Given the description of an element on the screen output the (x, y) to click on. 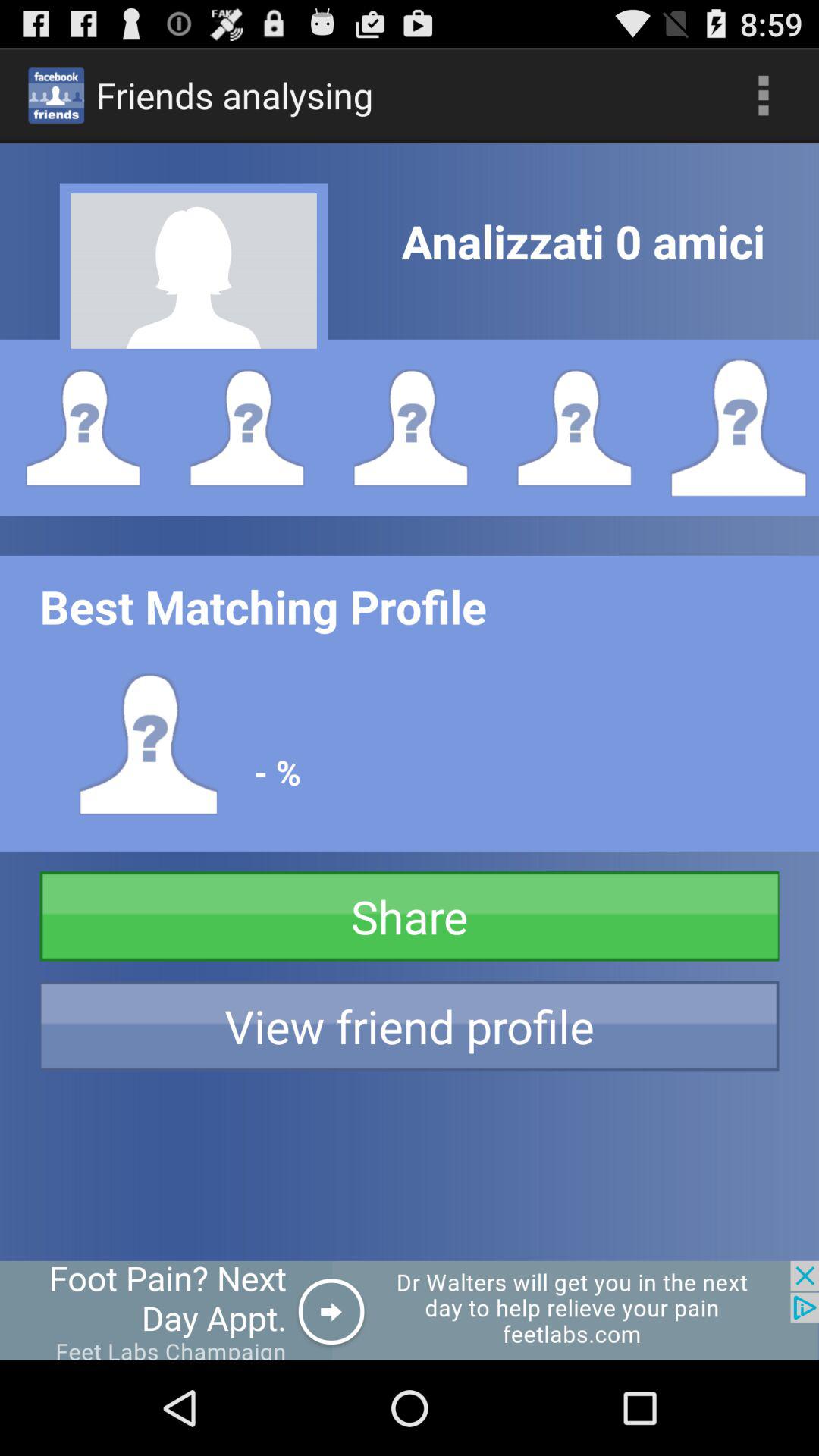
click the more option icon below 859 (763, 95)
